Given the description of an element on the screen output the (x, y) to click on. 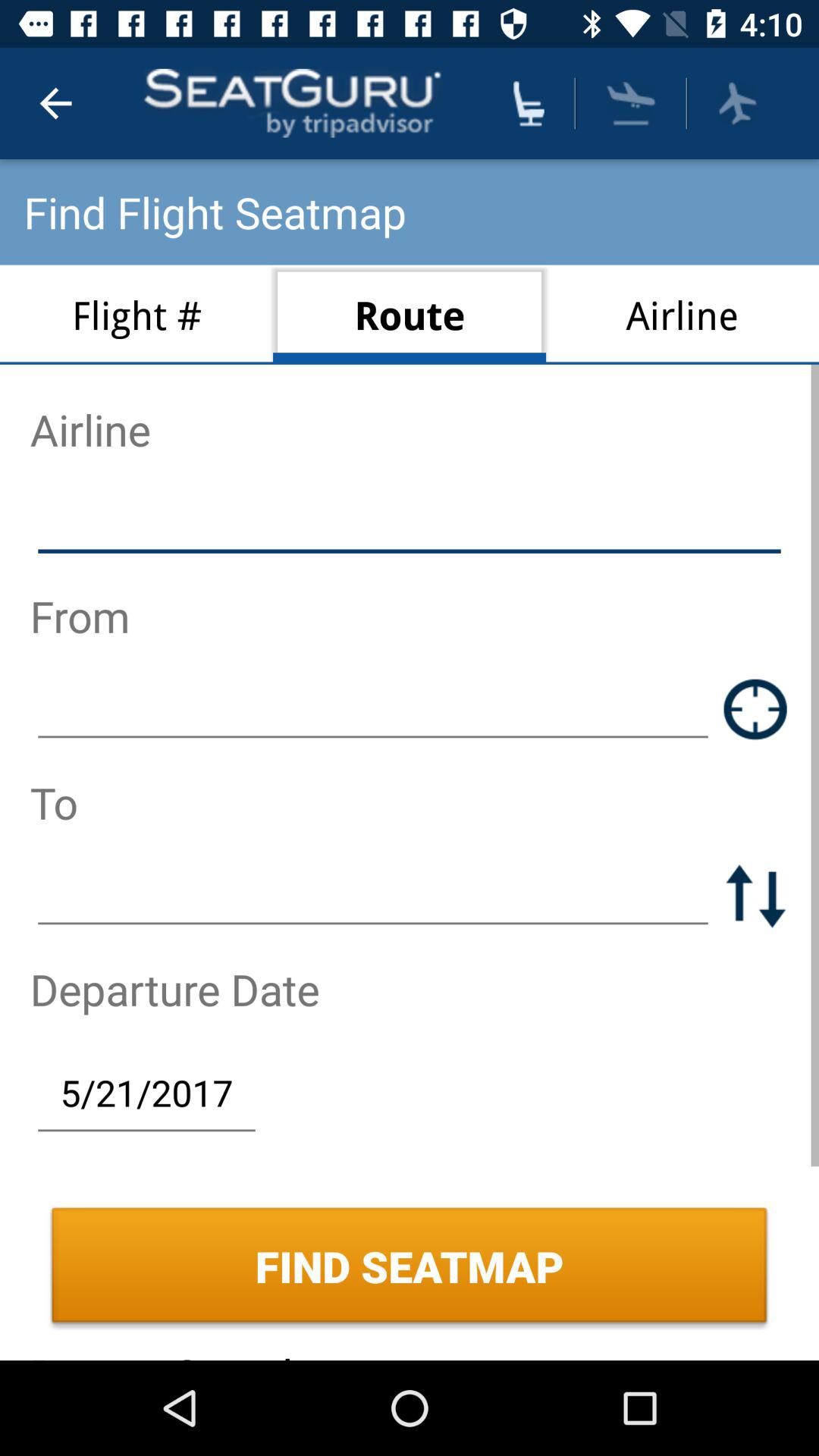
destiny blank bar (373, 895)
